Given the description of an element on the screen output the (x, y) to click on. 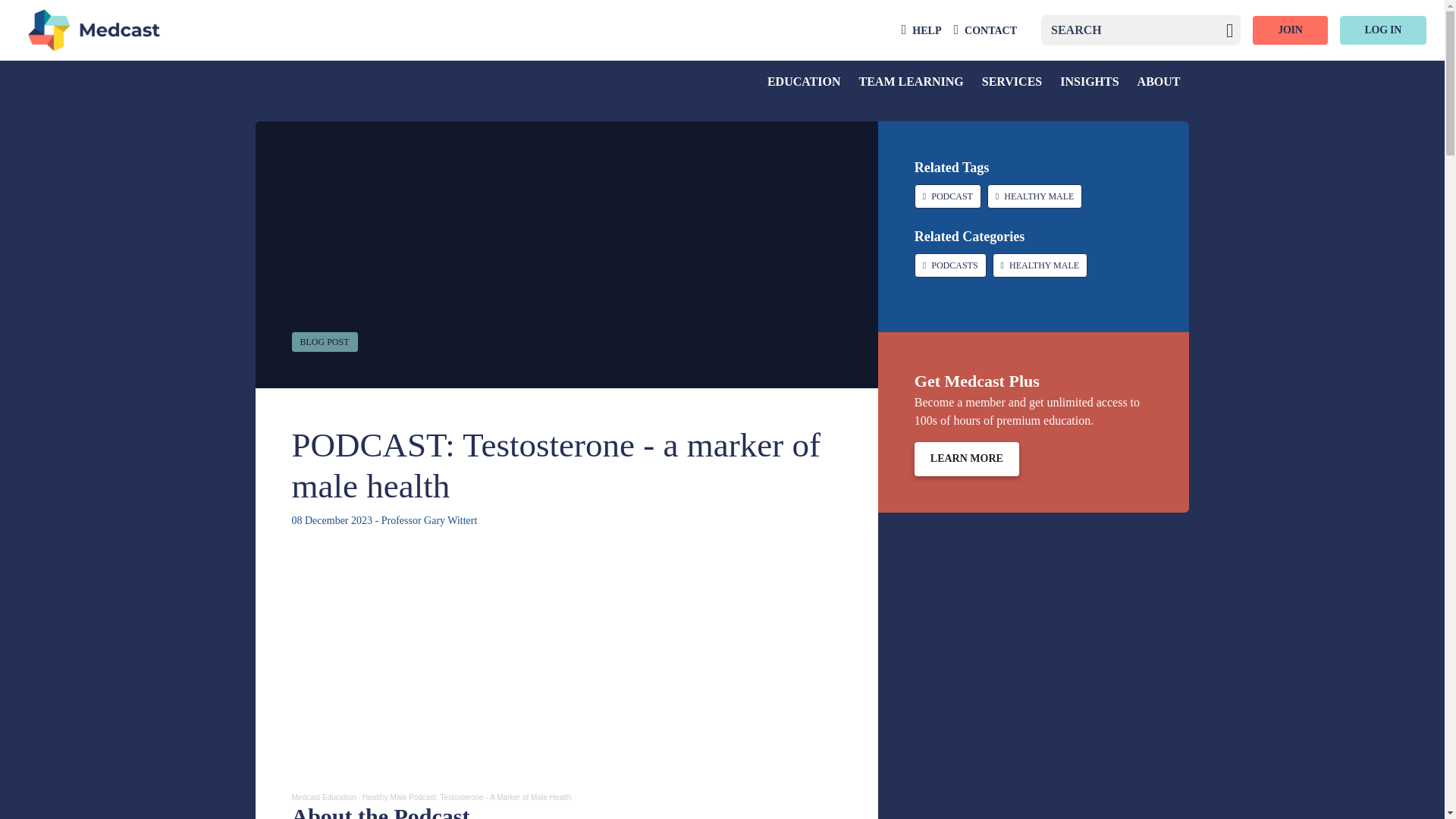
Tag: podcast (947, 196)
Category: podcasts (950, 265)
Category: healthy male (1039, 265)
CONTACT (984, 30)
HELP (921, 30)
LOG IN (1382, 30)
JOIN (1289, 30)
Healthy Male Podcast: Testosterone - A Marker of Male Health (467, 797)
Medcast Education (323, 797)
Tag: healthy male (1035, 196)
